Given the description of an element on the screen output the (x, y) to click on. 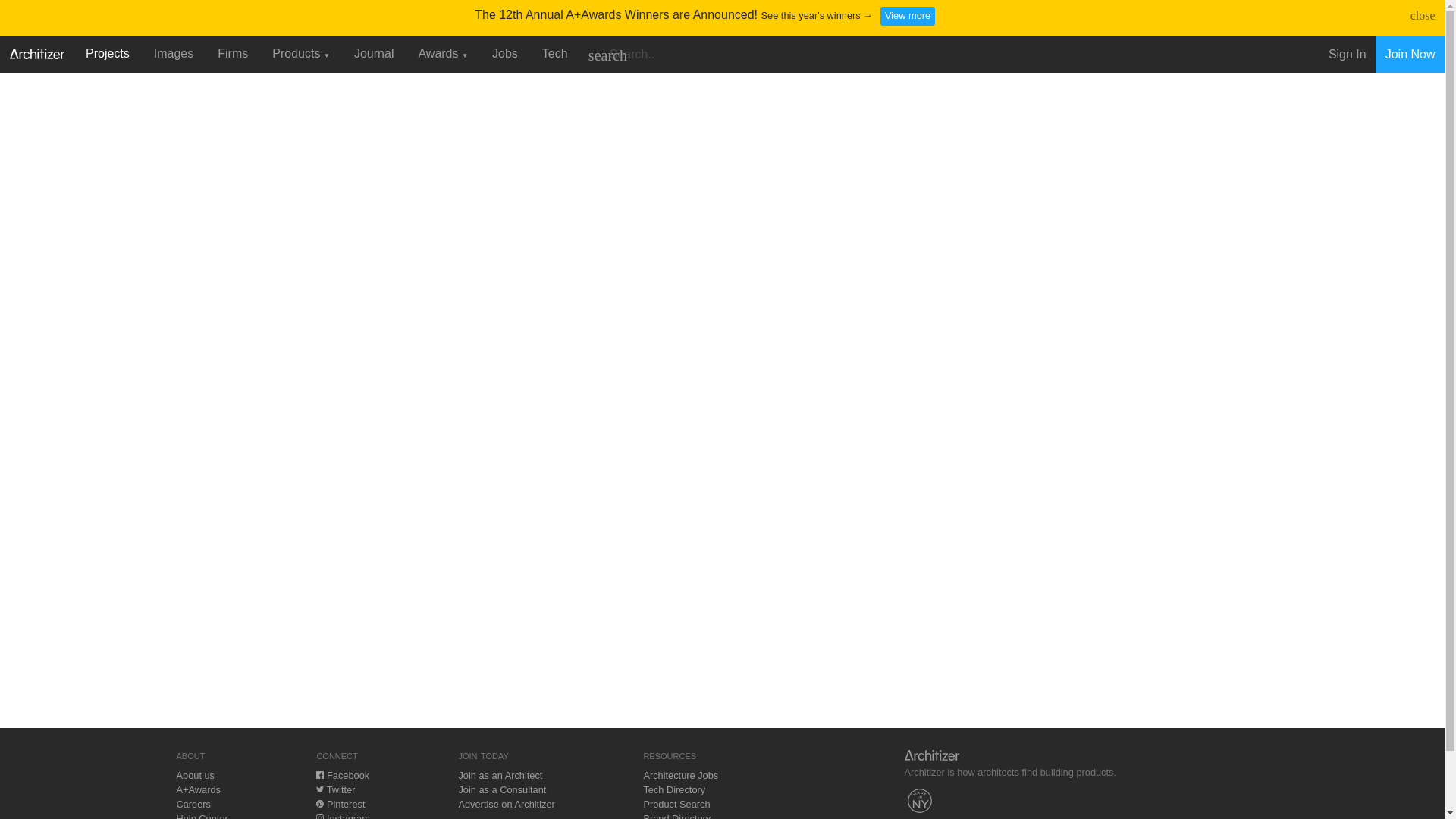
Firms (232, 53)
close (1422, 15)
Jobs (504, 53)
Images (173, 53)
Projects (107, 53)
search (606, 55)
Sign In (1347, 54)
Pinterest icon (319, 803)
Facebook icon (319, 774)
Instagram icon (319, 816)
